Given the description of an element on the screen output the (x, y) to click on. 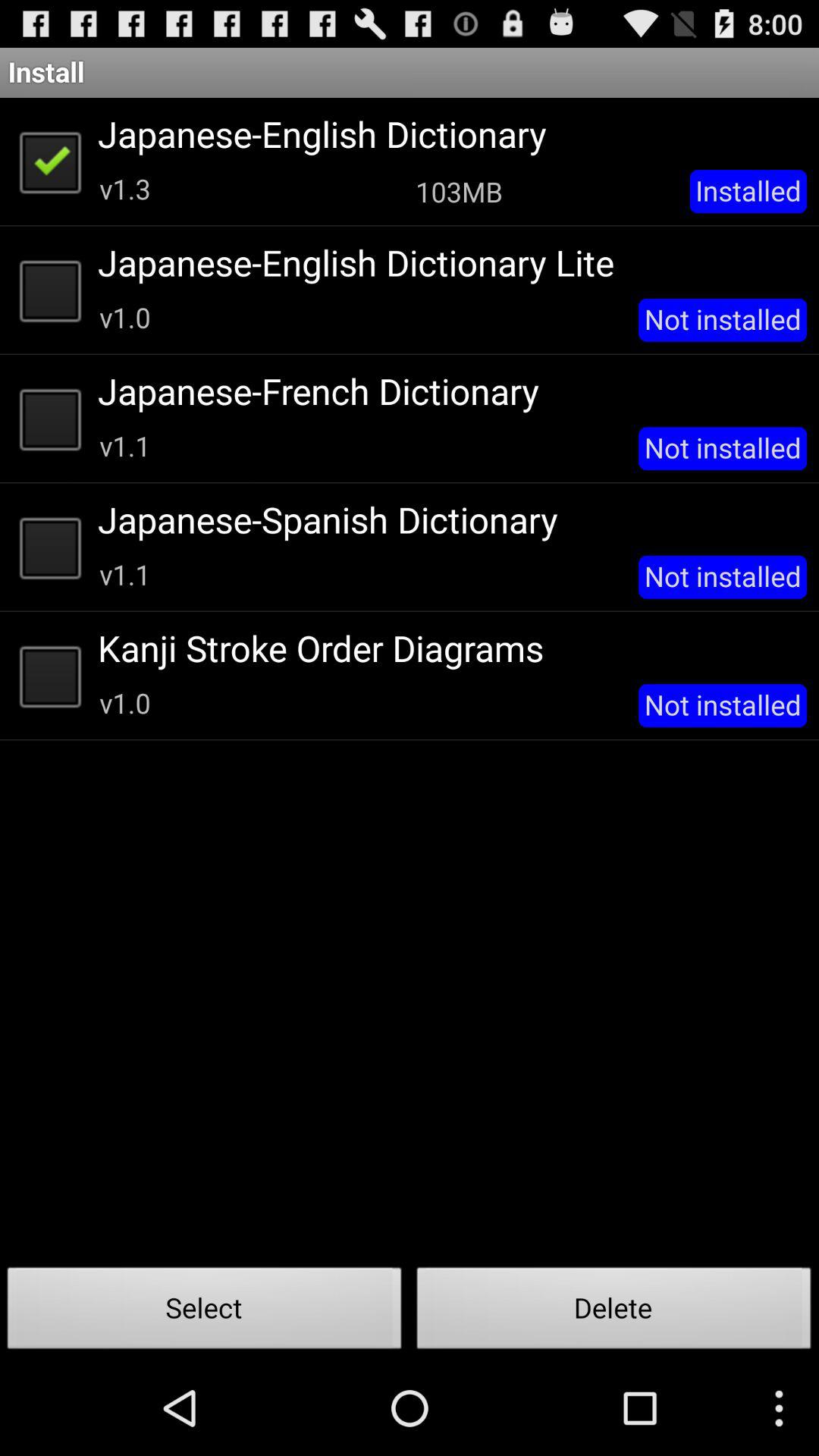
swipe to the select button (204, 1312)
